Given the description of an element on the screen output the (x, y) to click on. 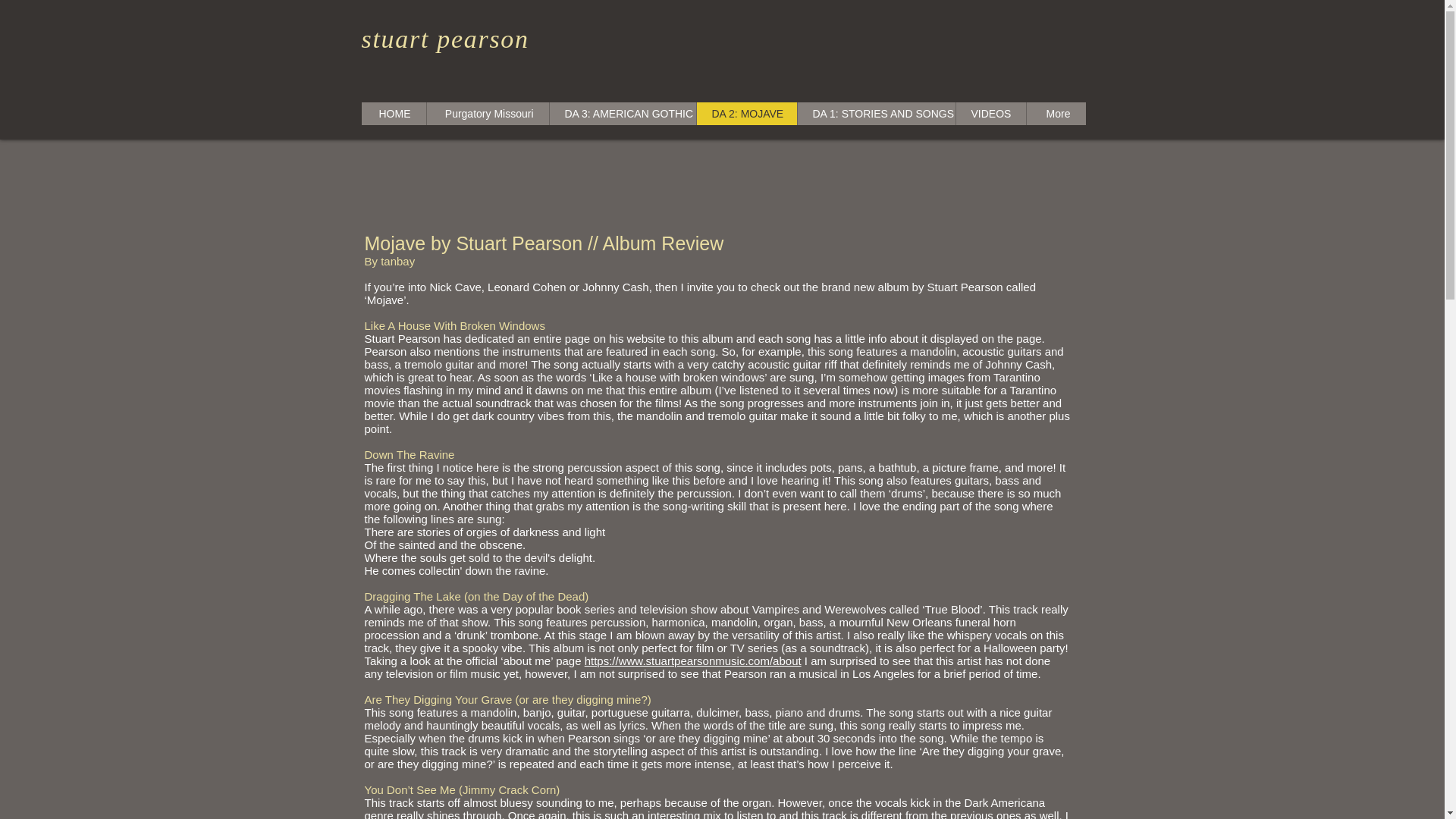
DA 1: STORIES AND SONGS (875, 113)
HOME (393, 113)
Purgatory Missouri (487, 113)
DA 2: MOJAVE (745, 113)
stuart pearson (444, 39)
DA 3: AMERICAN GOTHIC (621, 113)
